Given the description of an element on the screen output the (x, y) to click on. 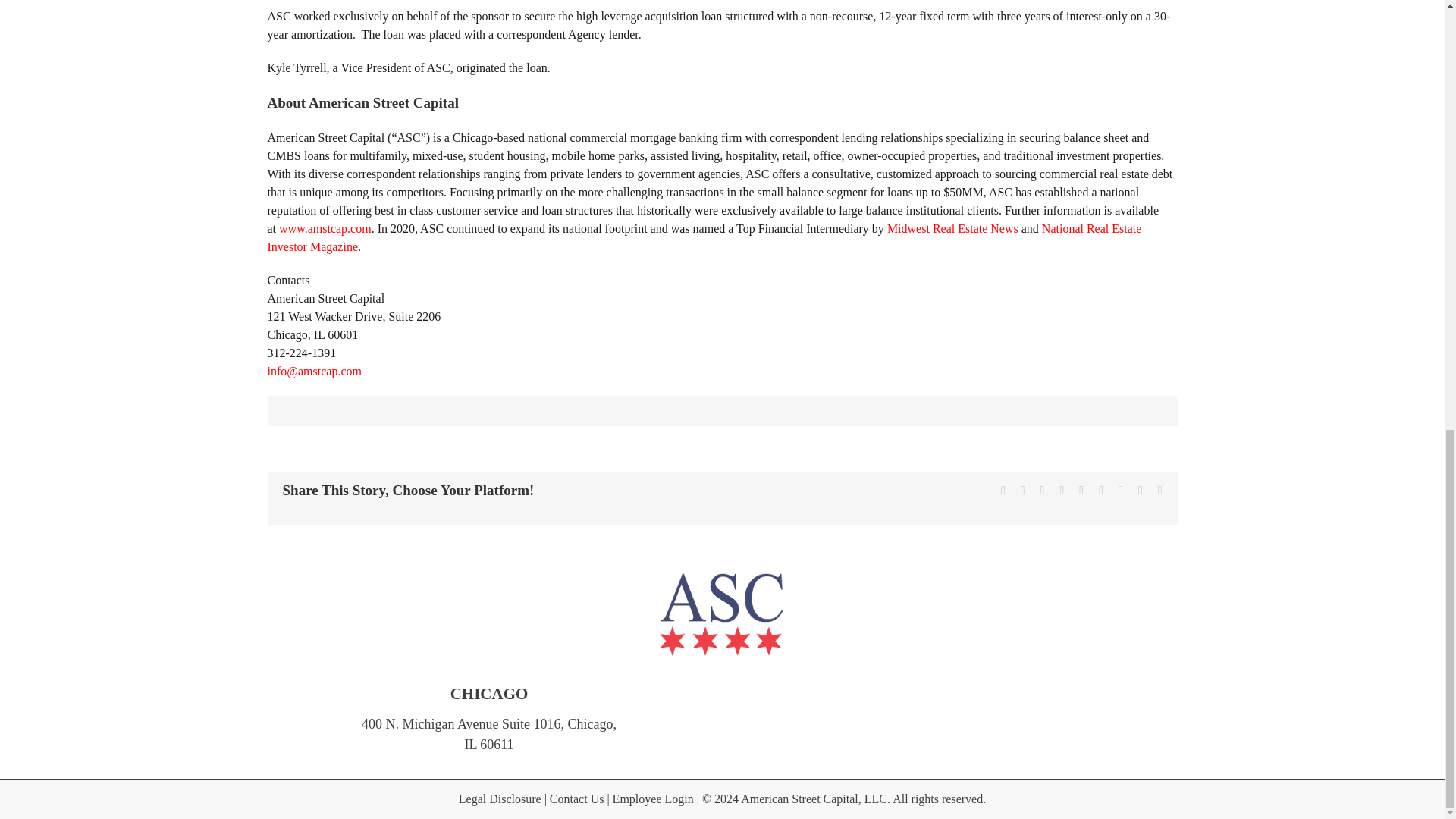
WhatsApp (1080, 490)
Reddit (1043, 490)
LinkedIn (1061, 490)
Pinterest (1120, 490)
LinkedIn (1061, 490)
Facebook (1003, 490)
Twitter (1022, 490)
Facebook (1003, 490)
WhatsApp (1080, 490)
Tumblr (1101, 490)
Reddit (1043, 490)
www.amstcap.com (325, 228)
National Real Estate Investor Magazine (703, 237)
Midwest Real Estate News (951, 228)
Tumblr (1101, 490)
